Given the description of an element on the screen output the (x, y) to click on. 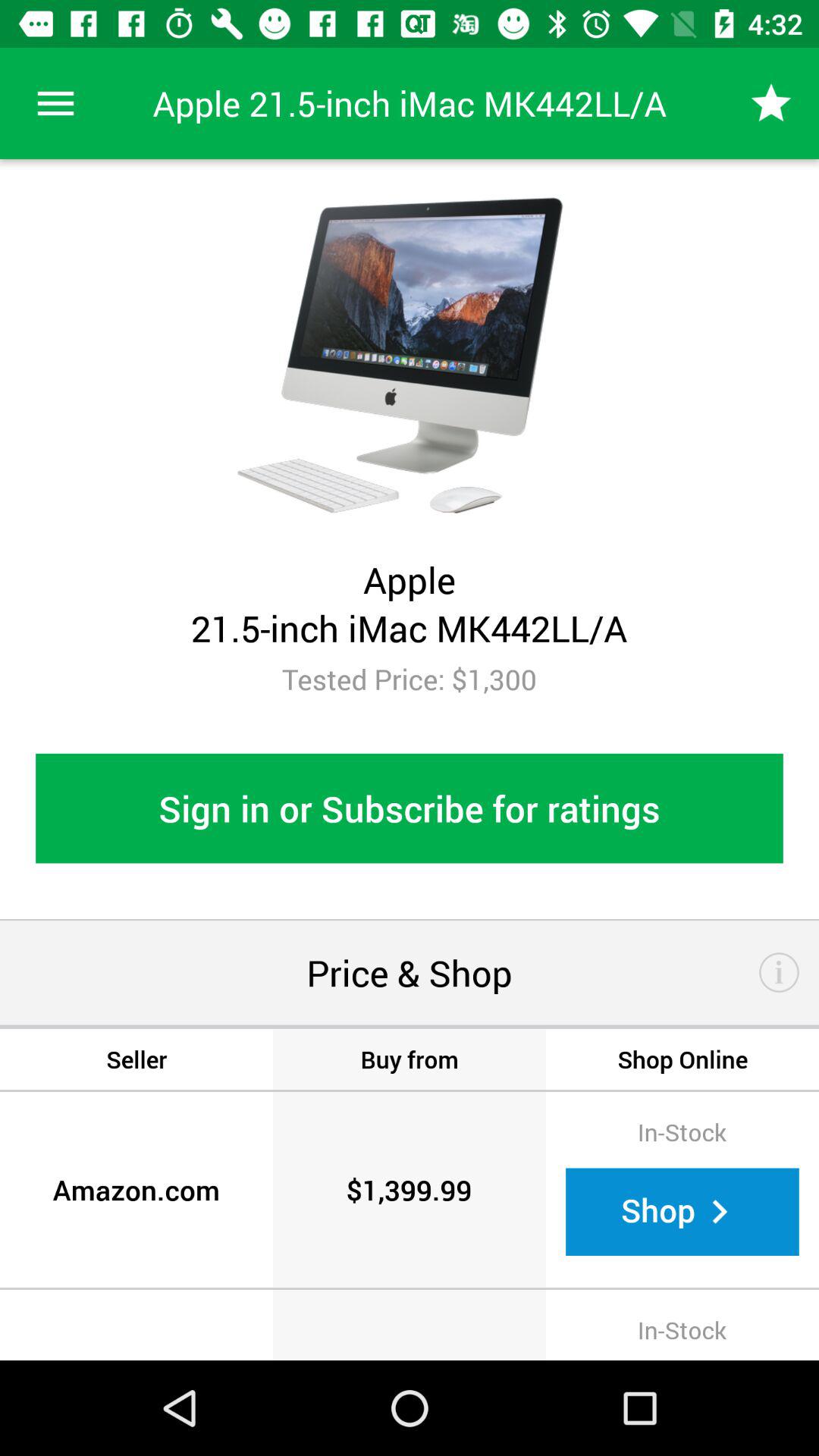
flip until the sign in or (409, 808)
